Given the description of an element on the screen output the (x, y) to click on. 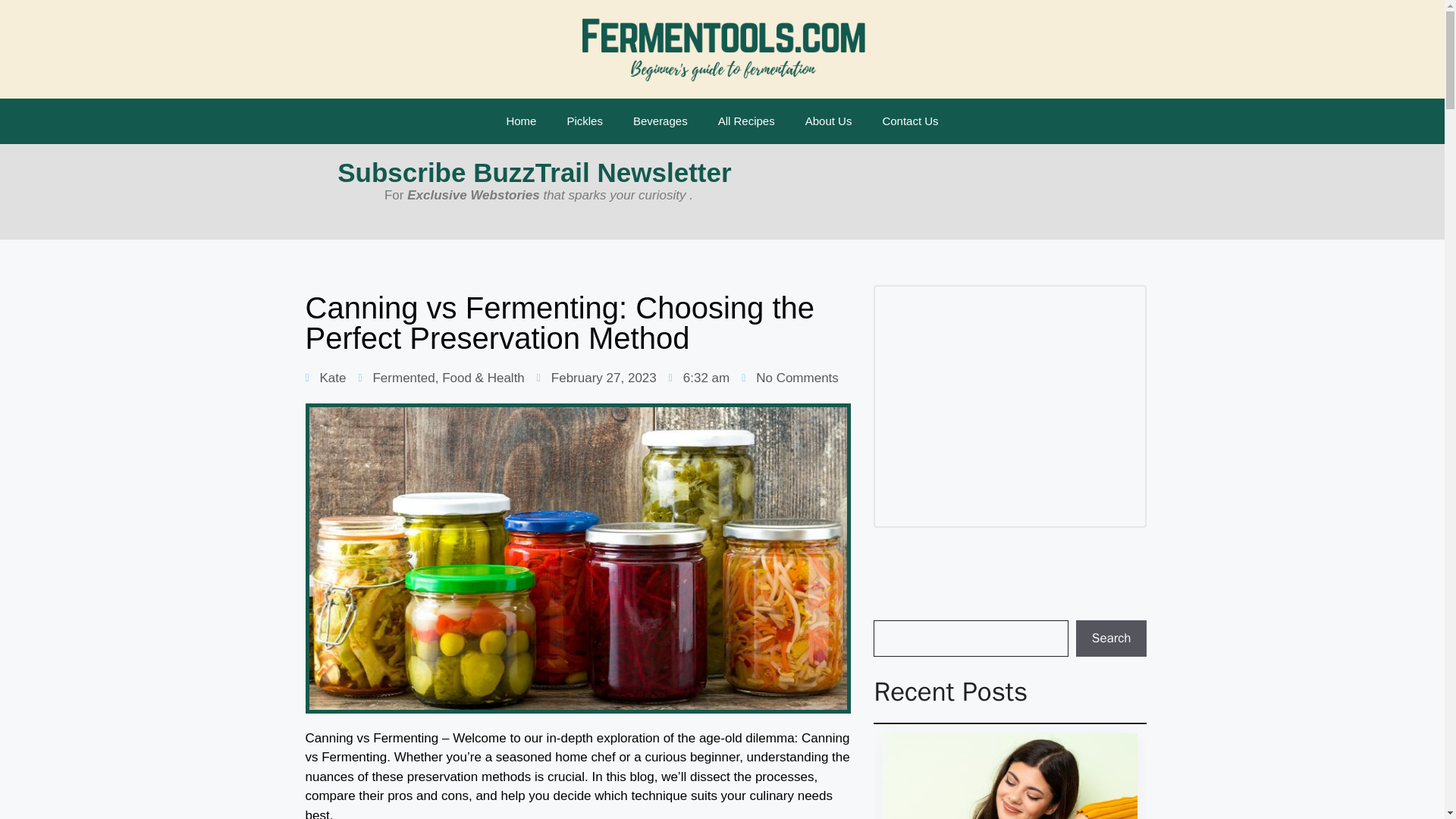
About Us (828, 121)
Fermented (402, 377)
Kate (325, 378)
Pickles (584, 121)
Home (520, 121)
February 27, 2023 (596, 378)
Contact Us (909, 121)
Beverages (660, 121)
No Comments (789, 378)
All Recipes (746, 121)
